Given the description of an element on the screen output the (x, y) to click on. 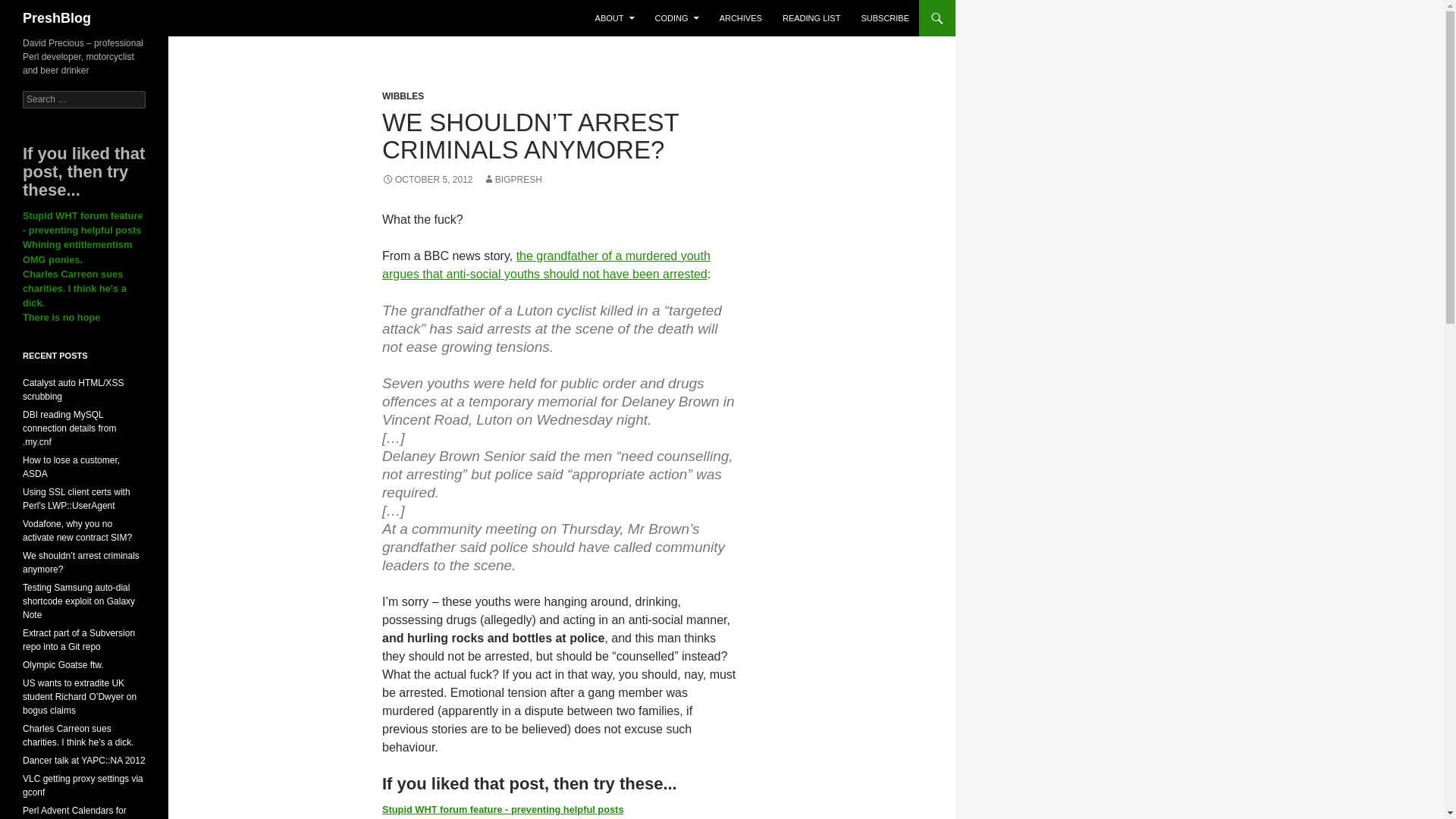
READING LIST (810, 18)
BIGPRESH (512, 179)
Stupid WHT forum feature - preventing helpful posts (502, 808)
OMG ponies. (52, 259)
There is no hope (61, 317)
Testing Samsung auto-dial shortcode exploit on Galaxy Note (79, 600)
WIBBLES (402, 95)
OCTOBER 5, 2012 (427, 179)
Olympic Goatse ftw. (63, 665)
How to lose a customer, ASDA (71, 467)
Charles Carreon sues charities. I think he's a dick. (74, 288)
Stupid WHT forum feature - preventing helpful posts (82, 222)
ABOUT (614, 18)
Whining entitlementism (77, 244)
